Given the description of an element on the screen output the (x, y) to click on. 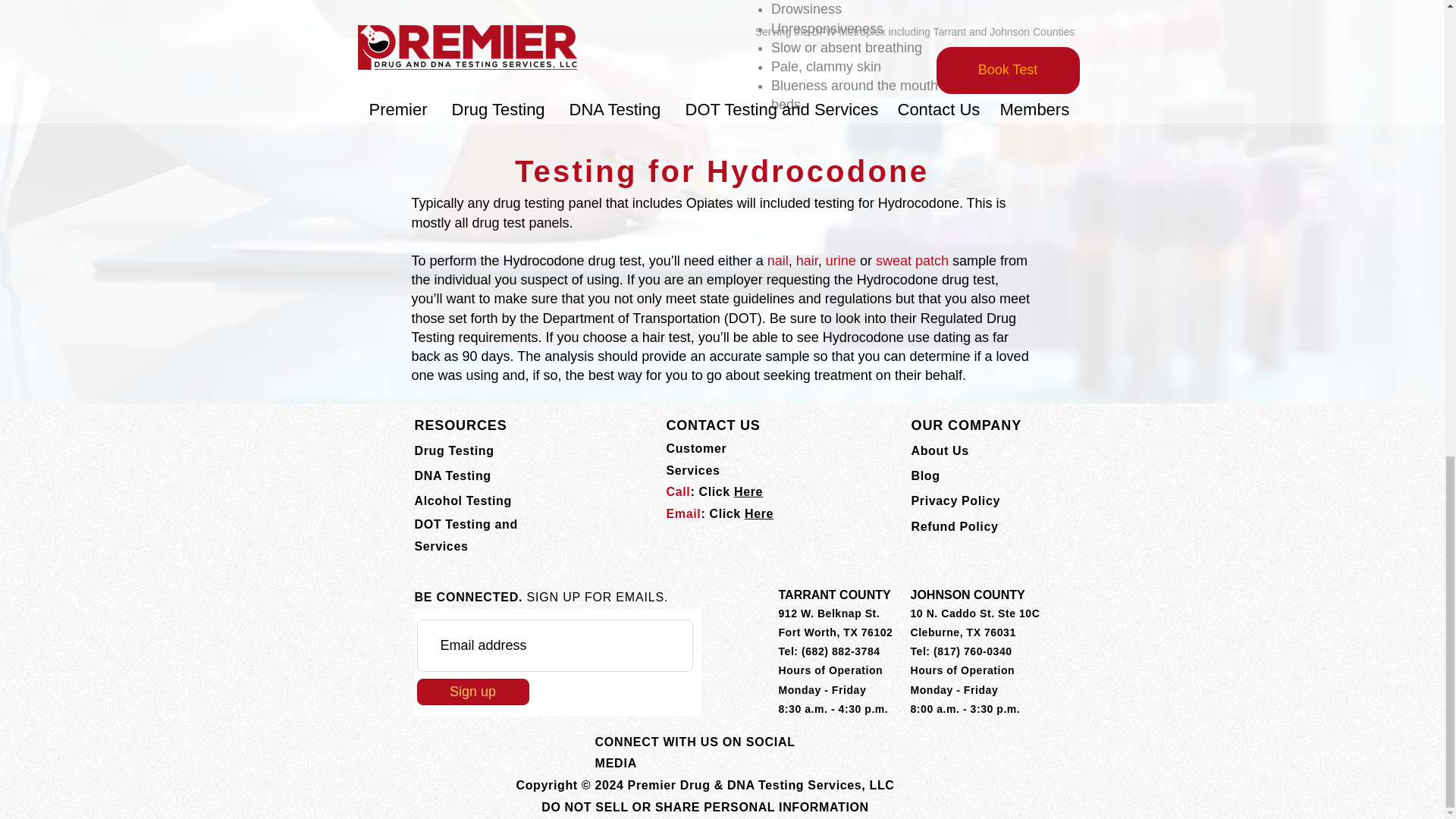
DNA Testing (451, 475)
Blog (925, 475)
Alcohol Testing (462, 500)
Customer Services (695, 459)
DOT Testing and (464, 523)
Email: Click Here (719, 513)
Privacy Policy (955, 500)
Drug Testing (453, 450)
Call: Click Here (713, 491)
Refund Policy (954, 526)
About Us (940, 450)
Sign up (472, 691)
CONTACT US (712, 425)
